Given the description of an element on the screen output the (x, y) to click on. 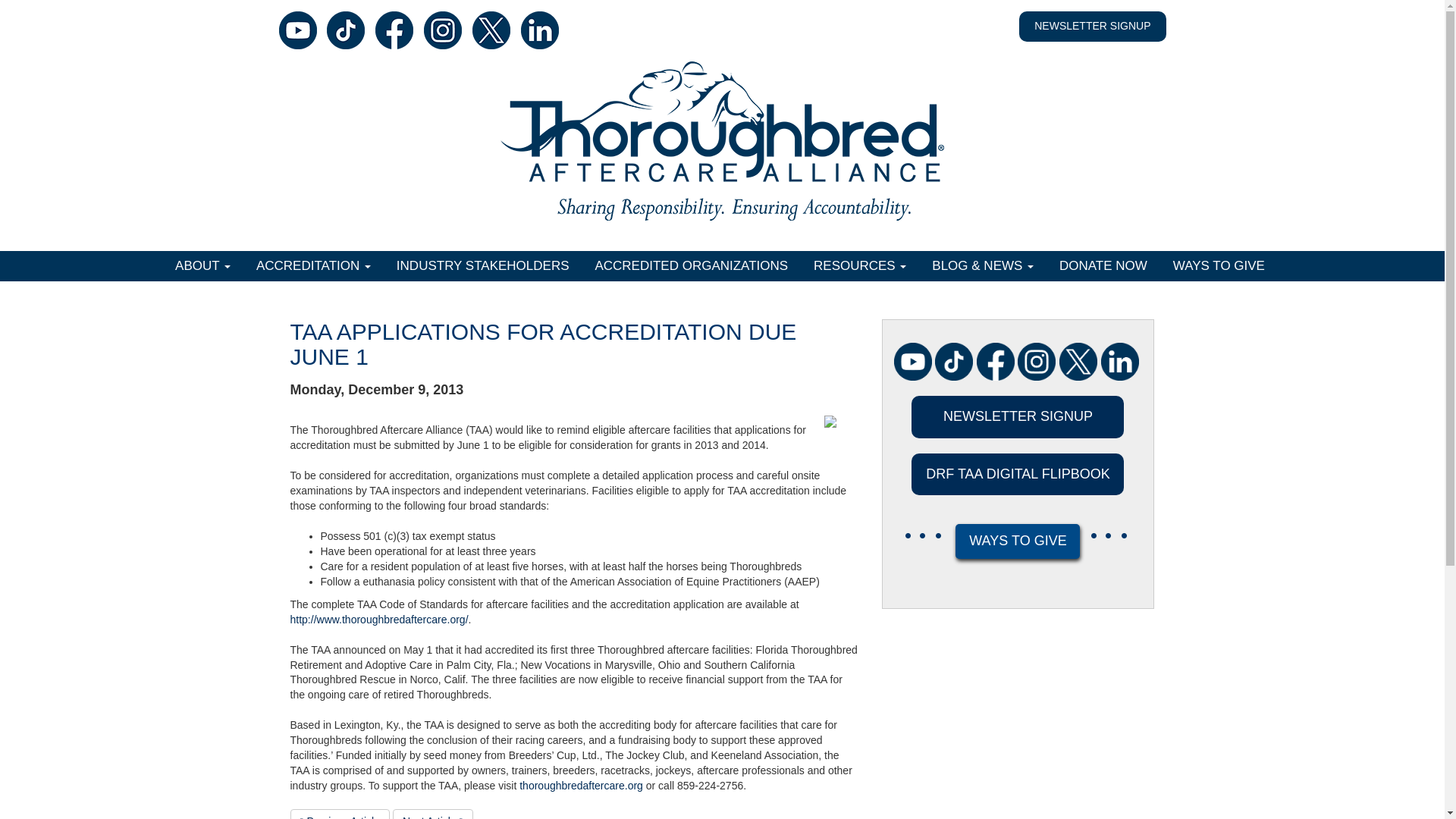
INDUSTRY STAKEHOLDERS (485, 265)
About (204, 265)
DONATE NOW (1104, 265)
ACCREDITED ORGANIZATIONS (693, 265)
WAYS TO GIVE (1220, 265)
Accreditation (315, 265)
ACCREDITATION (315, 265)
ABOUT (204, 265)
RESOURCES (862, 265)
NEWSLETTER SIGNUP (1091, 25)
